Given the description of an element on the screen output the (x, y) to click on. 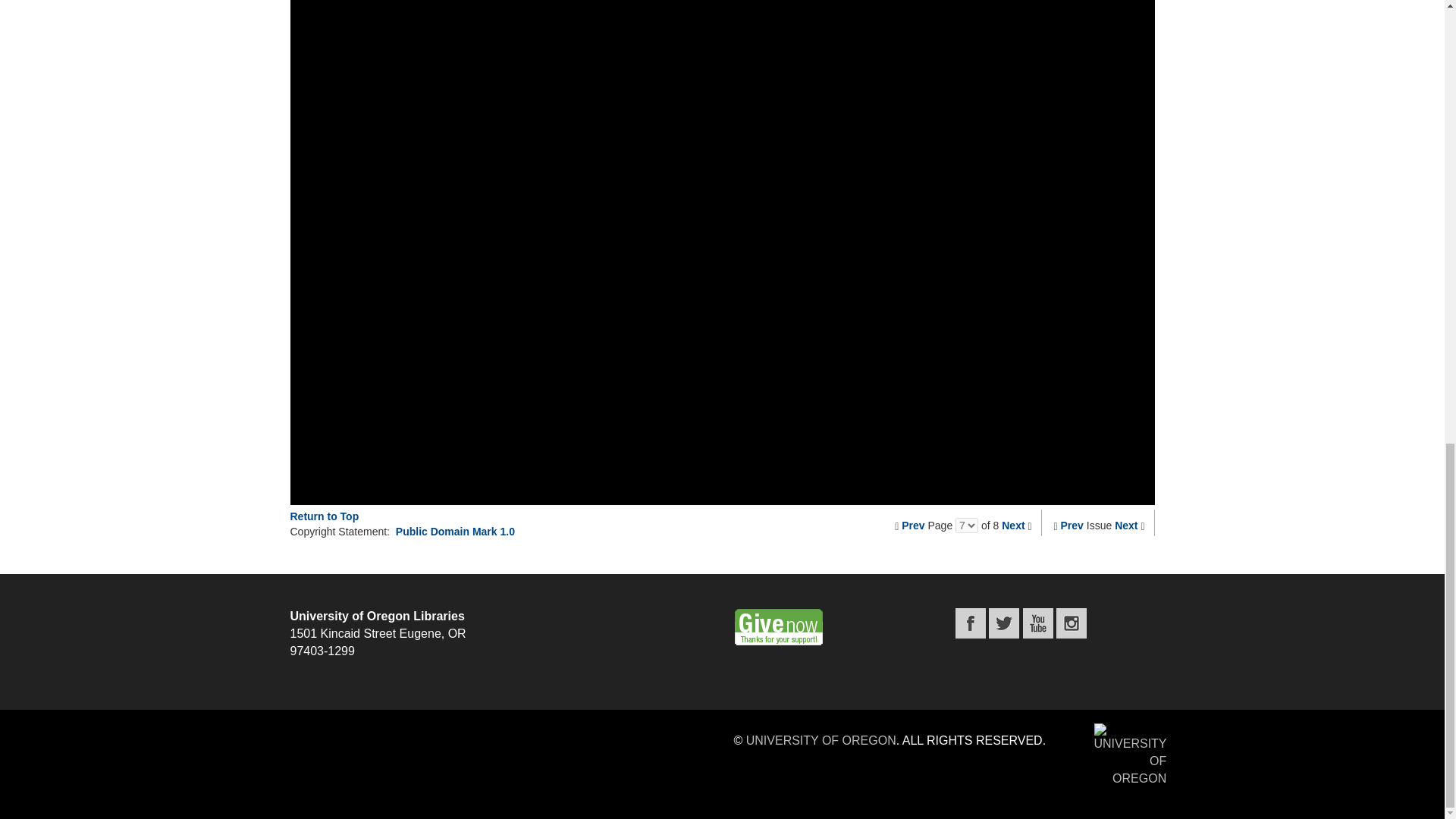
Return to Top (323, 516)
Next (1013, 525)
Next (1126, 525)
Prev (912, 525)
Prev (1072, 525)
Public Domain Mark 1.0 (455, 531)
